Given the description of an element on the screen output the (x, y) to click on. 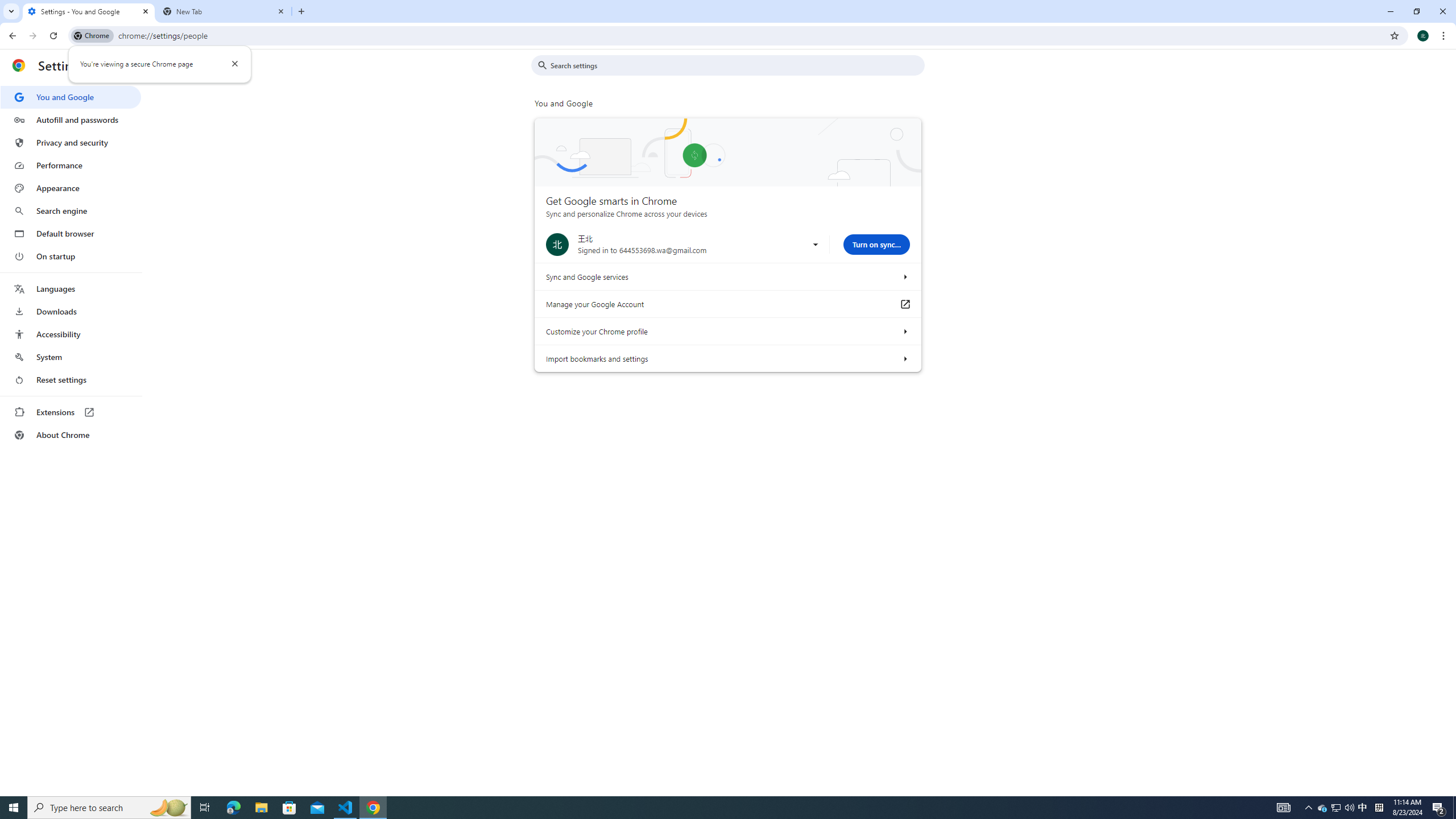
Privacy and security (70, 142)
On startup (70, 255)
Extensions (70, 412)
Search engine (70, 210)
Sync and Google services (904, 275)
Default browser (70, 233)
Settings - You and Google (88, 11)
Google Chrome - 1 running window (373, 807)
Use another account (815, 244)
Type here to search (108, 807)
Task View (204, 807)
Appearance (70, 187)
